Given the description of an element on the screen output the (x, y) to click on. 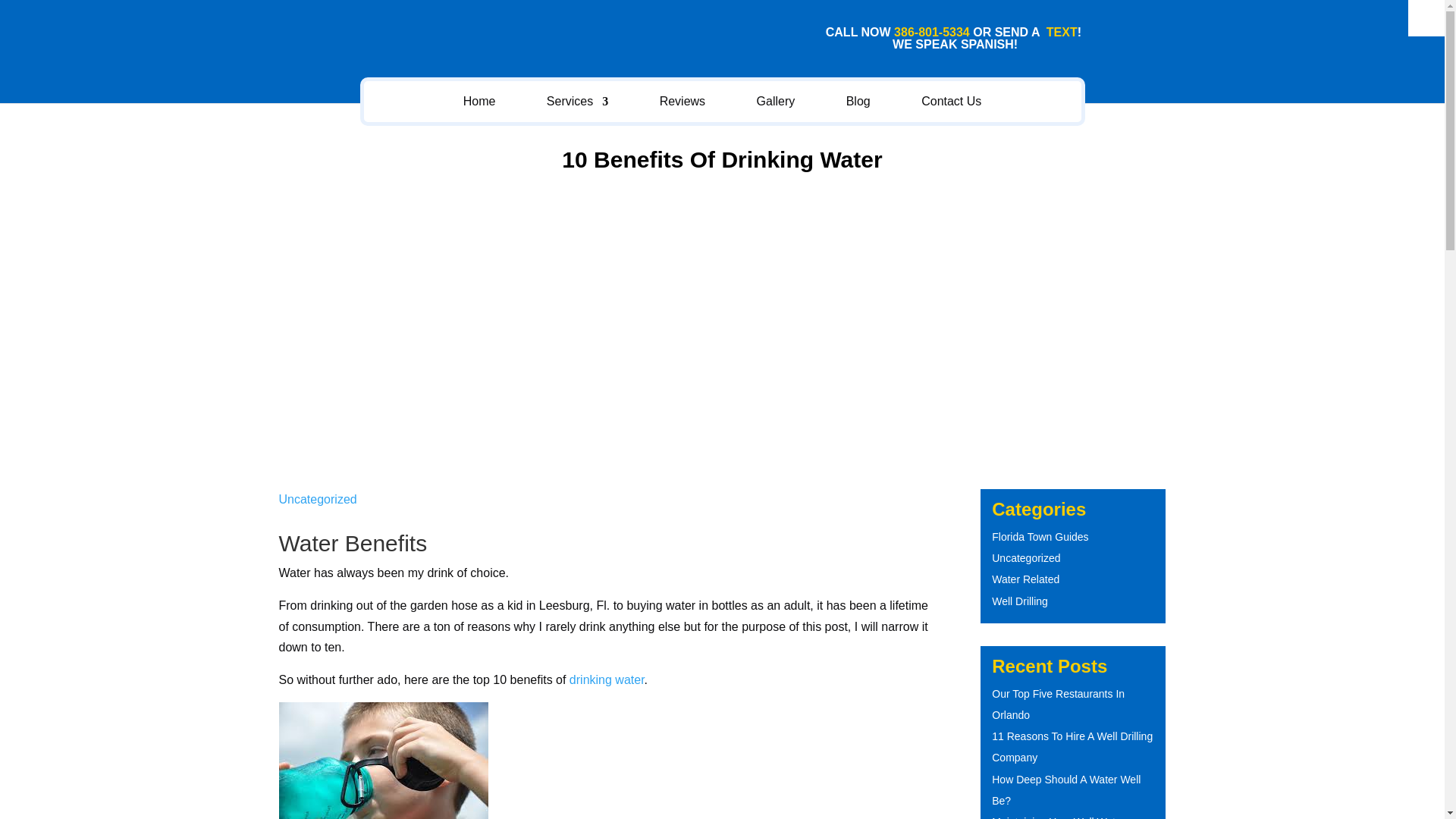
Our Top Five Restaurants In Orlando (1057, 704)
Well Drilling (1019, 601)
Water Related (1025, 579)
Services (577, 101)
Reviews (681, 101)
Contact Us (951, 101)
Gallery (775, 101)
11 Reasons To Hire A Well Drilling Company (1072, 746)
drinking water (607, 679)
Uncategorized (317, 499)
